Given the description of an element on the screen output the (x, y) to click on. 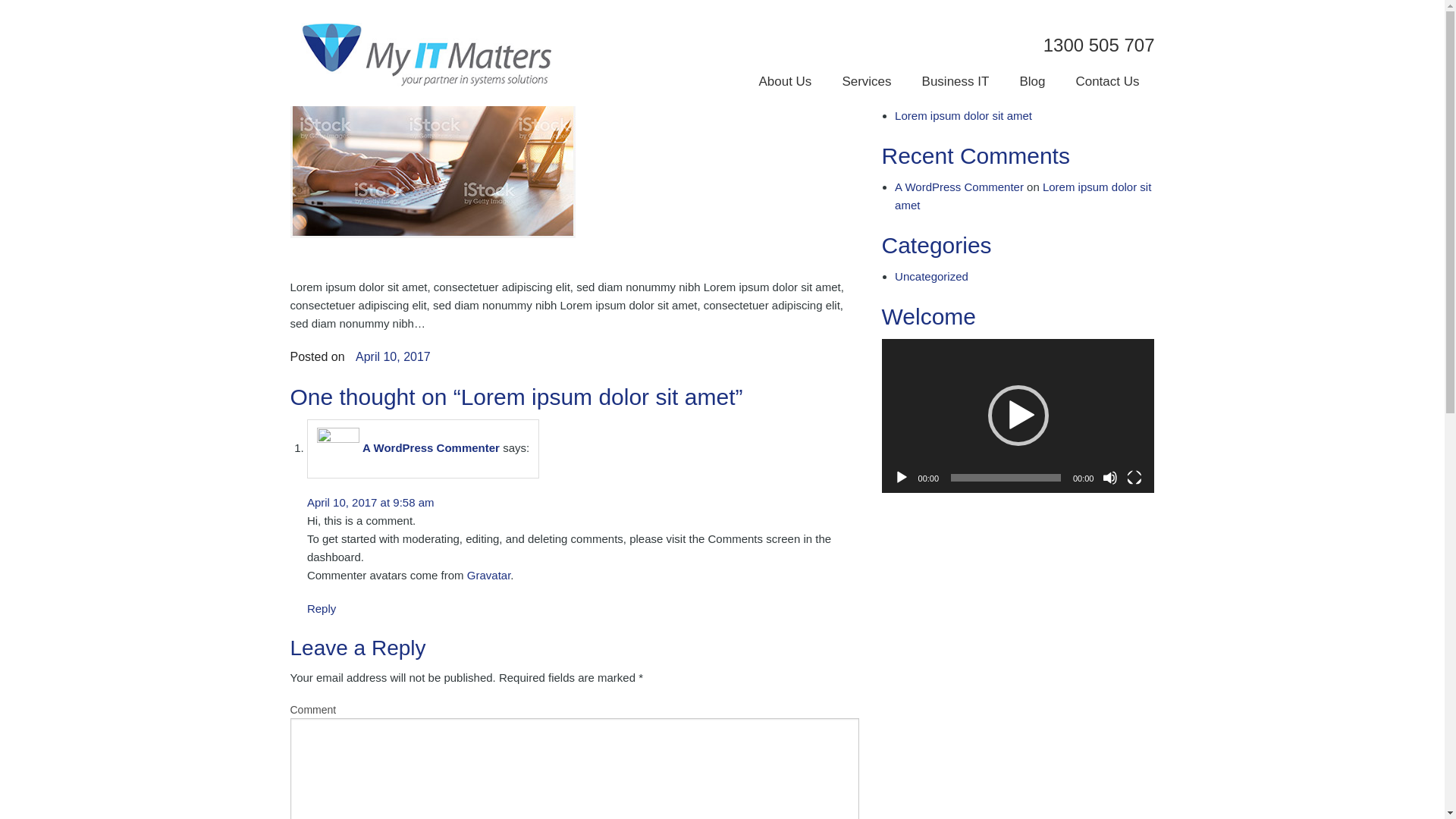
April 10, 2017 at 9:58 am Element type: text (370, 501)
Lorem ipsum dolor sit amet Element type: text (1022, 195)
Blog Element type: text (1032, 81)
Business IT Element type: text (955, 81)
Contact Us Element type: text (1107, 81)
Gravatar Element type: text (489, 574)
A WordPress Commenter Element type: text (430, 447)
Services Element type: text (866, 81)
Mute Element type: hover (1109, 477)
1300 505 707 Element type: text (1098, 44)
Lorem ipsum dolor sit amet Element type: text (963, 115)
Uncategorized Element type: text (931, 275)
Lorem ipsum dolor sit amet, consectetuer Element type: text (998, 78)
Lorem ipsum dolor Element type: text (941, 97)
About Us Element type: text (784, 81)
A WordPress Commenter Element type: text (958, 186)
Reply Element type: text (321, 608)
April 10, 2017 Element type: text (393, 356)
Fullscreen Element type: hover (1134, 477)
Play Element type: hover (901, 477)
